Given the description of an element on the screen output the (x, y) to click on. 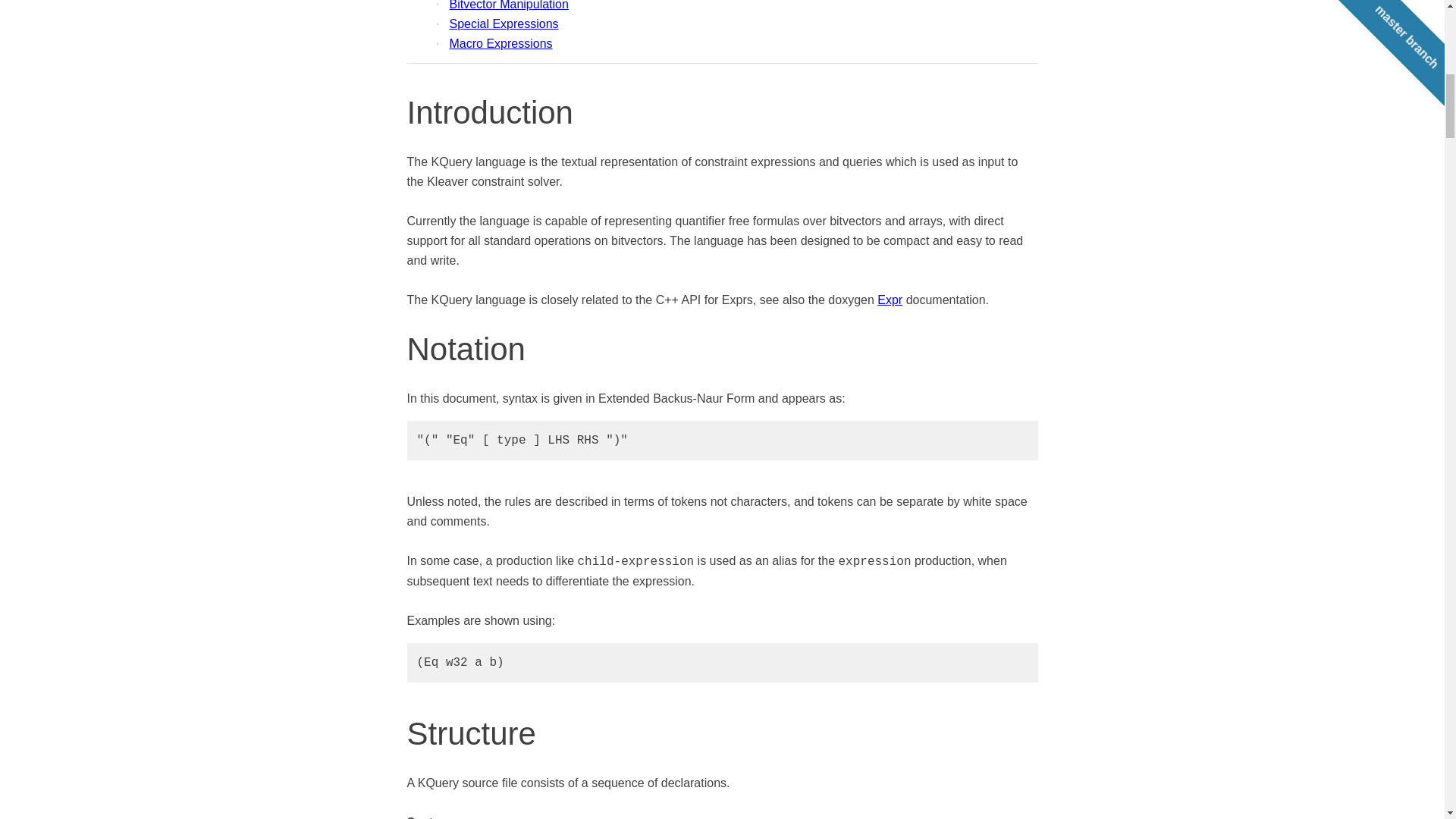
Expr (889, 299)
Macro Expressions (493, 43)
Special Expressions (496, 24)
Bitvector Manipulation (501, 5)
